Given the description of an element on the screen output the (x, y) to click on. 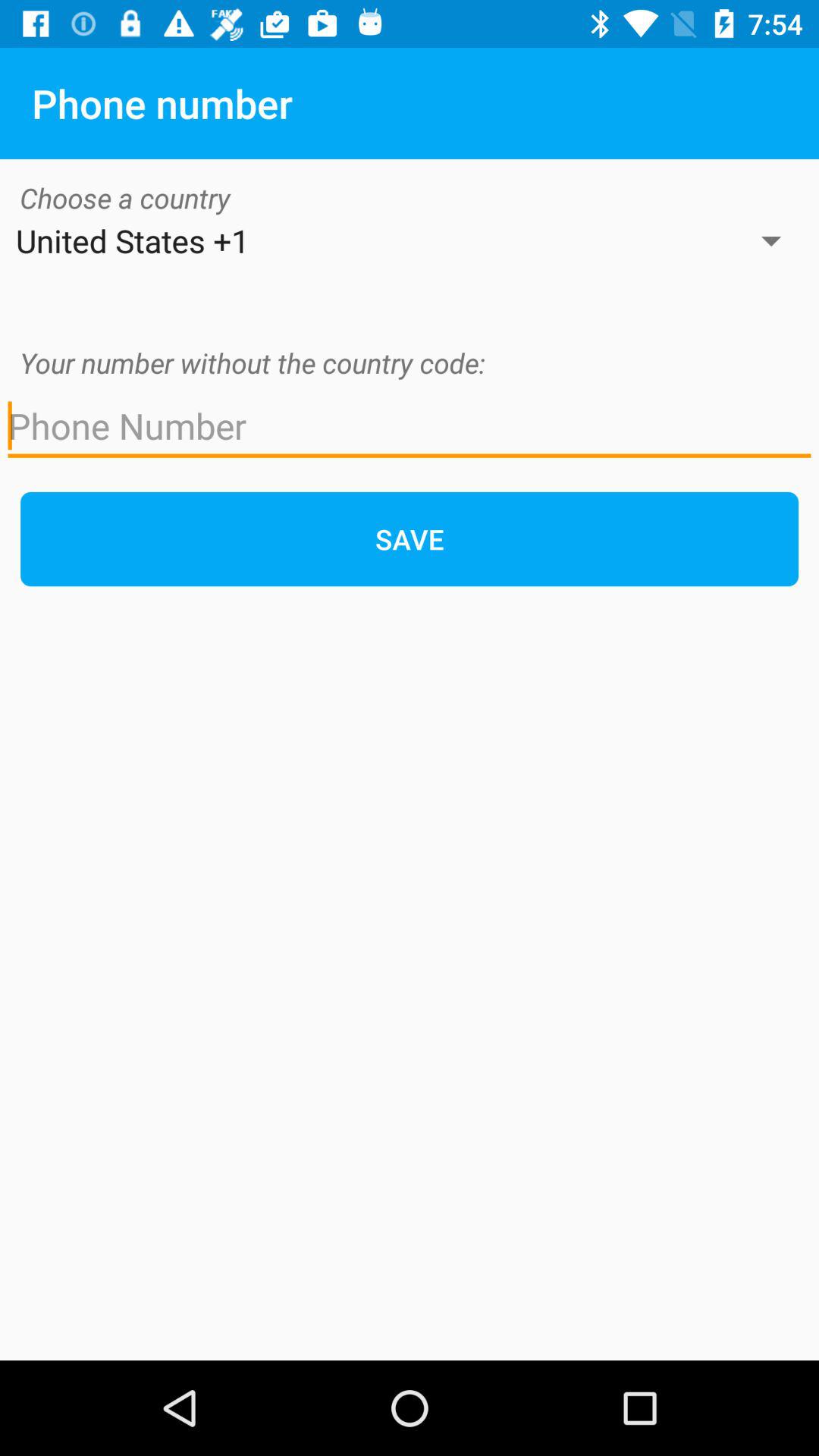
enter phone number (409, 426)
